Given the description of an element on the screen output the (x, y) to click on. 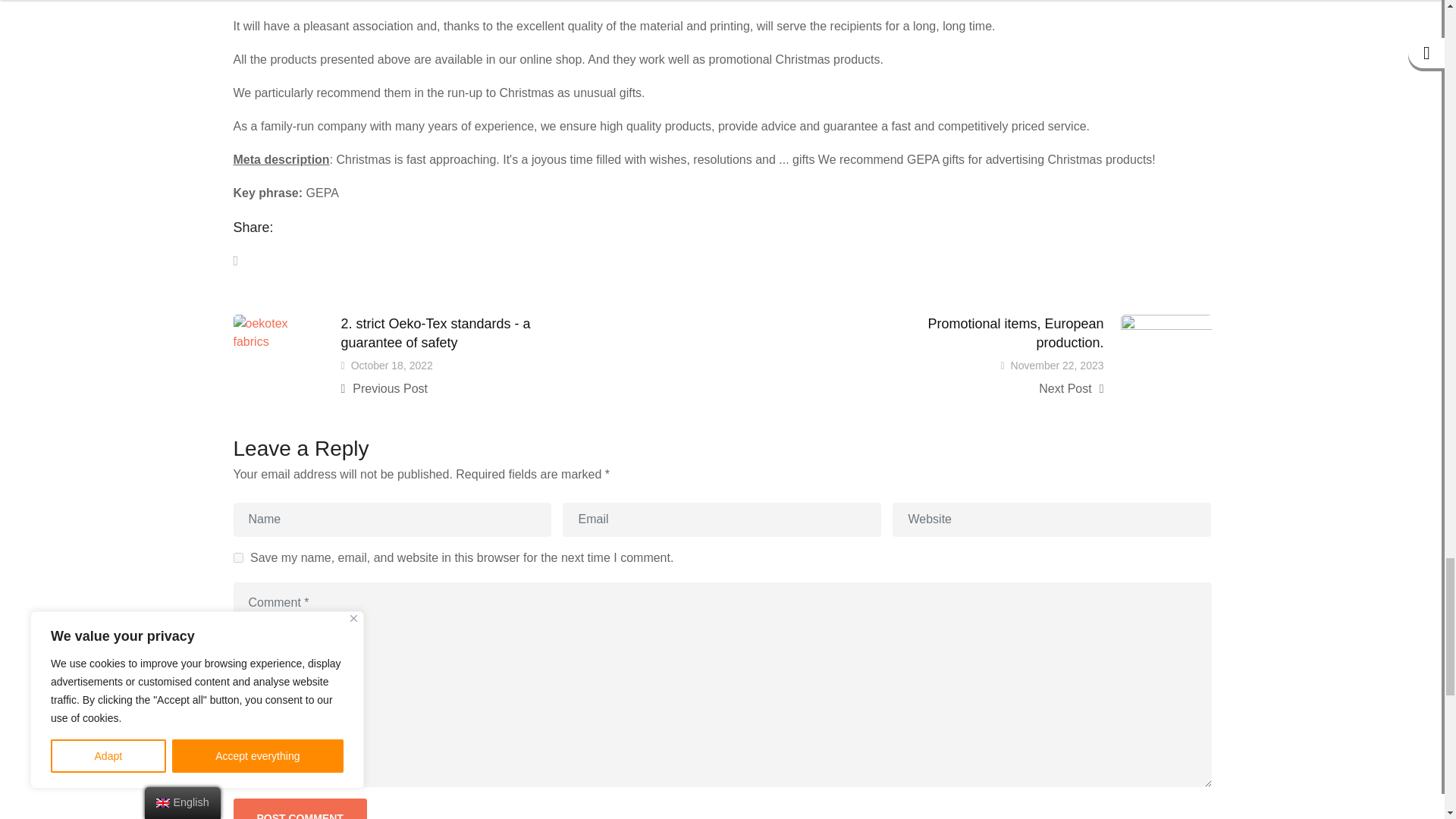
Post Comment (299, 808)
yes (237, 557)
